Given the description of an element on the screen output the (x, y) to click on. 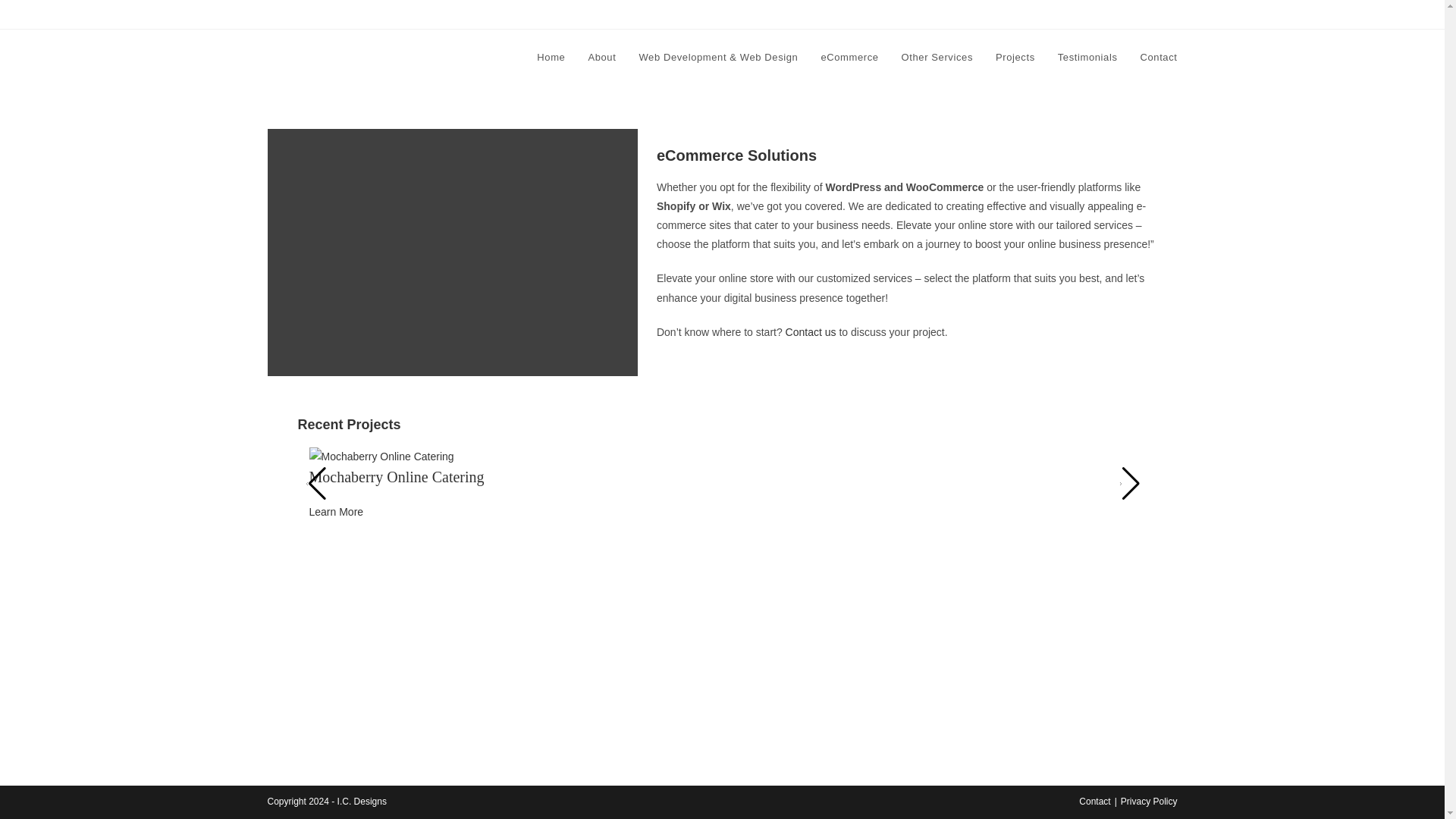
Mochaberry Online Catering (381, 455)
Learn More (336, 511)
Testimonials (1087, 57)
Privacy Policy (1149, 801)
Contact (1093, 801)
eCommerce (849, 57)
Contact (1158, 57)
Mochaberry Online Catering (396, 476)
Projects (1015, 57)
Home (550, 57)
About (601, 57)
Contact us (810, 331)
Mochaberry Online Catering (396, 476)
Other Services (936, 57)
